Given the description of an element on the screen output the (x, y) to click on. 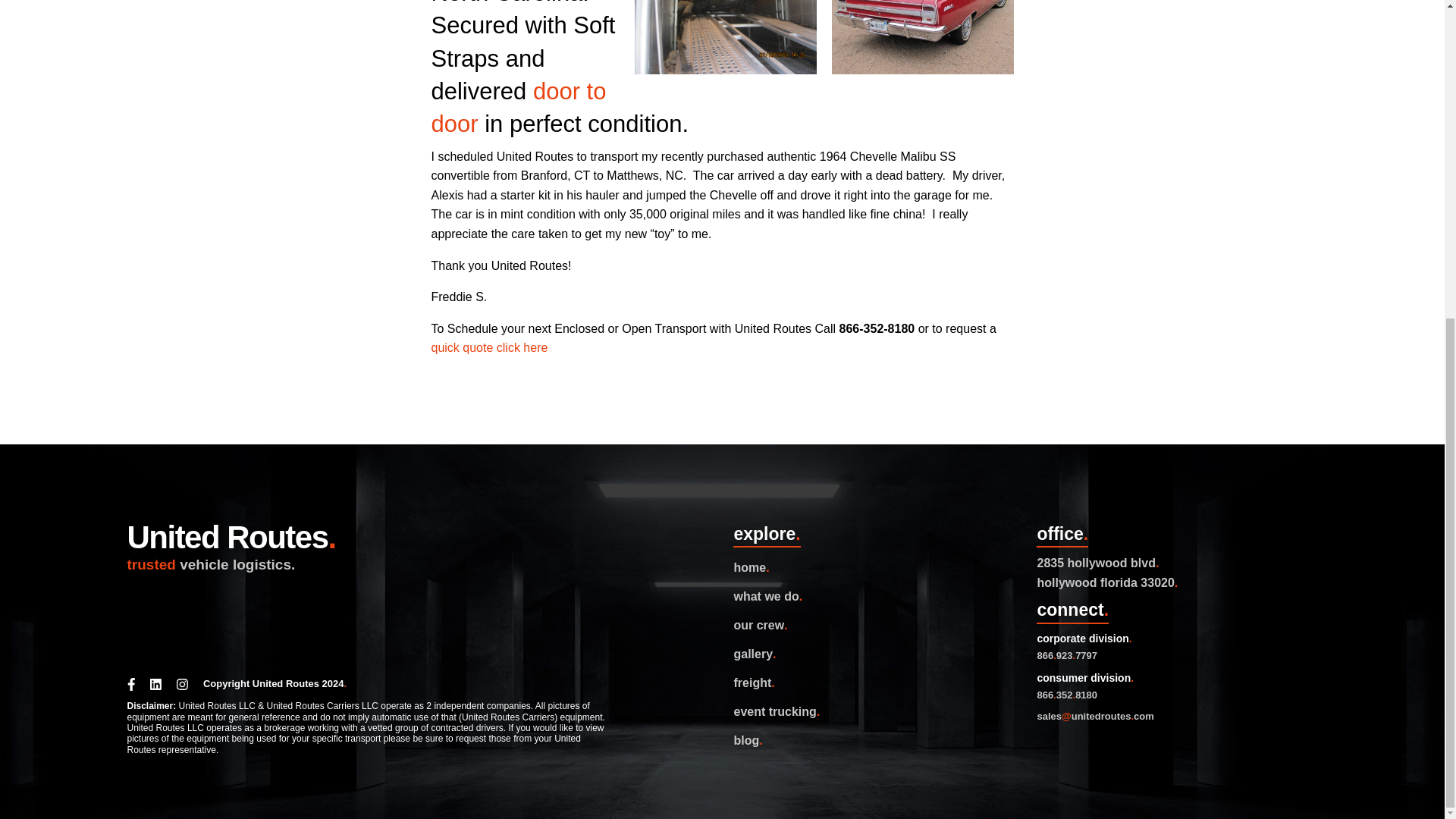
our crew (873, 624)
United Routes. (232, 537)
get a quote. (721, 541)
get a quote. (721, 791)
Quick car transport quote (488, 347)
what we do (873, 596)
866 923 7797 (721, 503)
door to door car transport  (517, 107)
door to door (517, 107)
quick quote click here (488, 347)
home (873, 567)
connect (1362, 280)
866 352 8180 (721, 754)
